Given the description of an element on the screen output the (x, y) to click on. 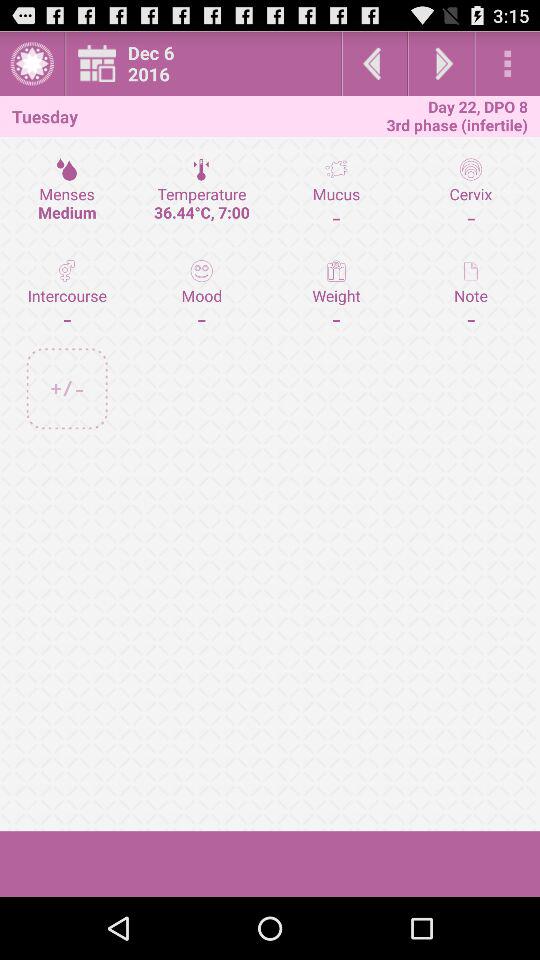
choose note
_ item (470, 294)
